Given the description of an element on the screen output the (x, y) to click on. 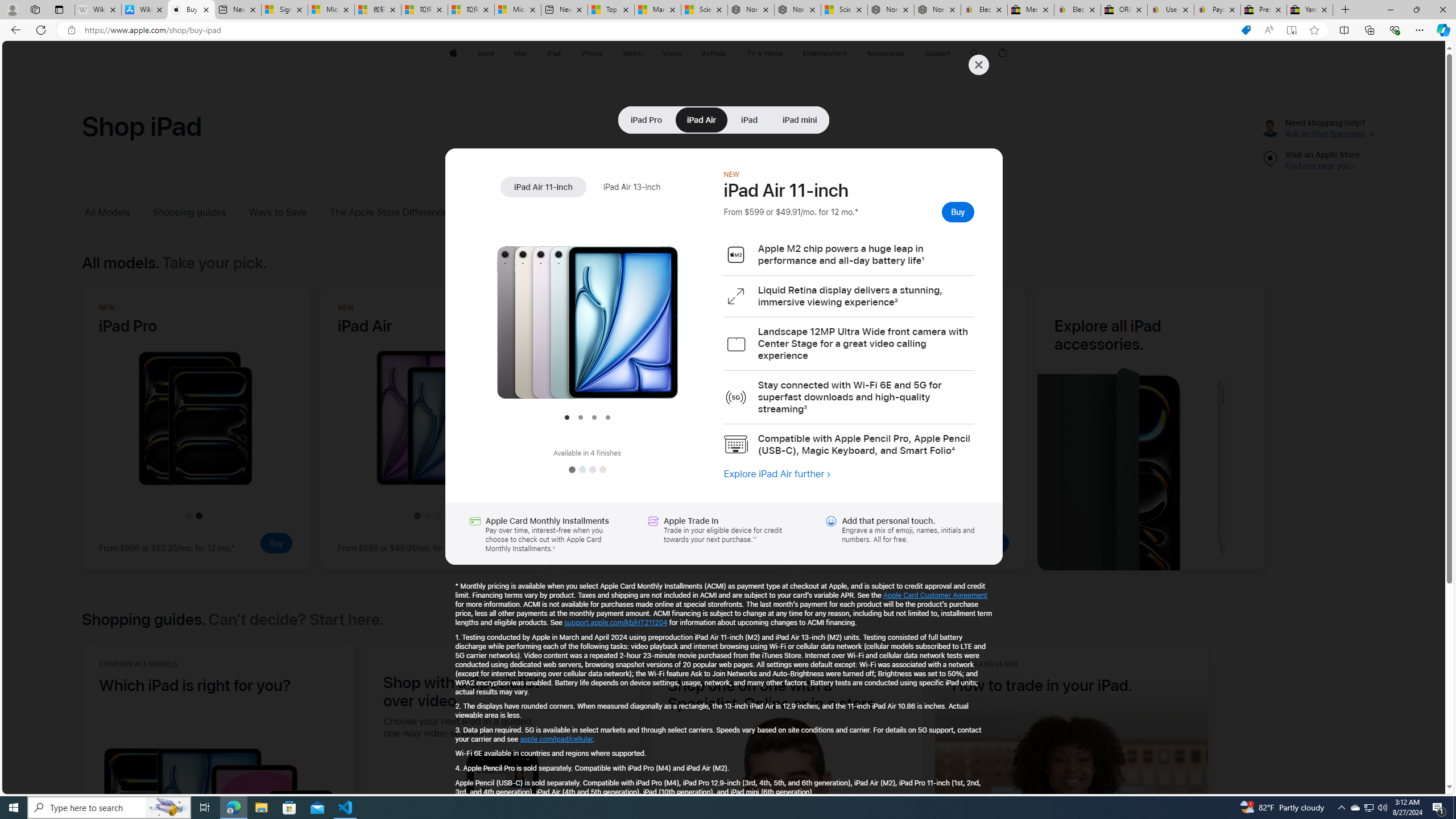
Payments Terms of Use | eBay.com (1216, 9)
Blue (581, 469)
Nordace - FAQ (937, 9)
